Given the description of an element on the screen output the (x, y) to click on. 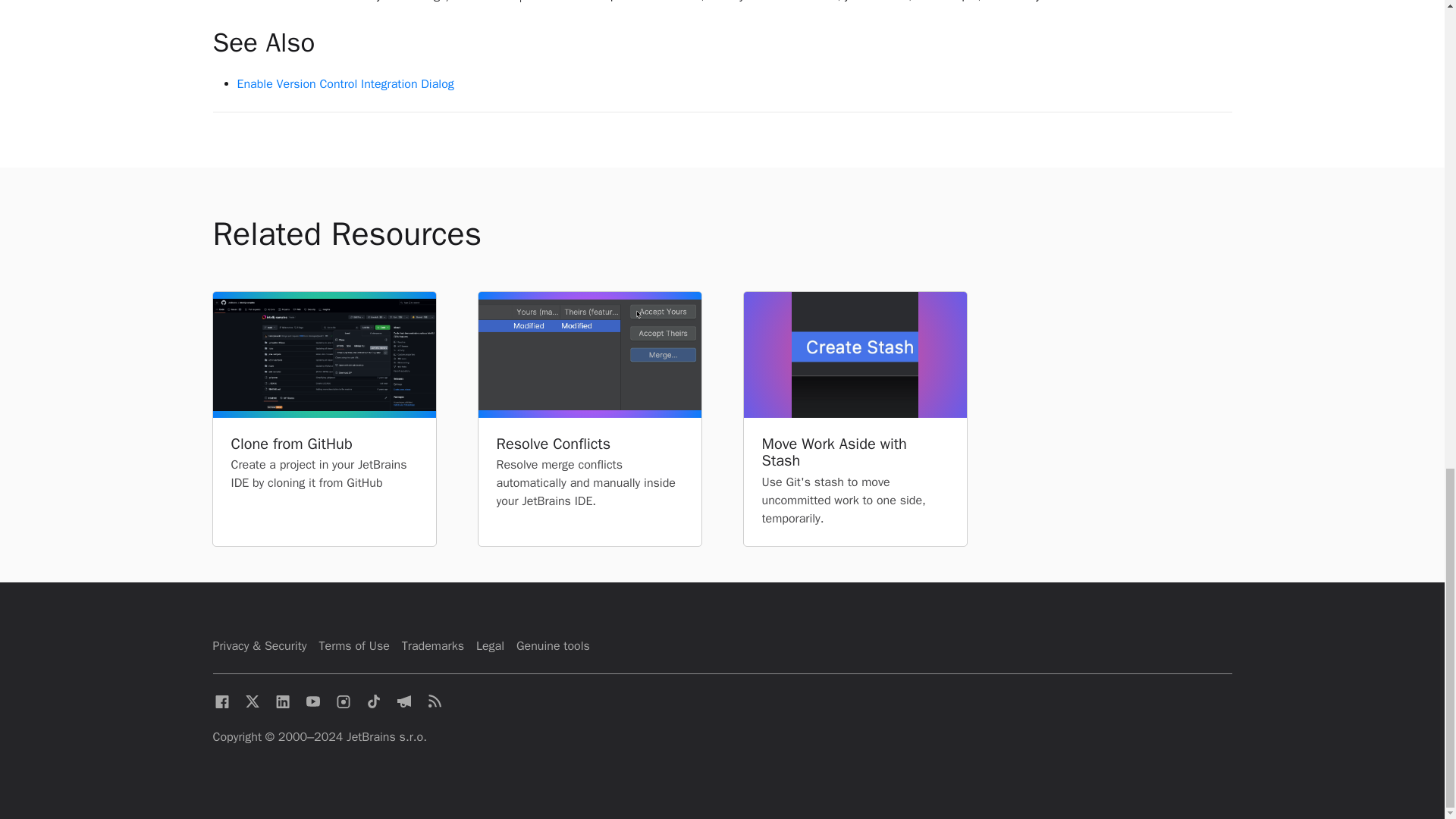
Clone from GitHub (323, 444)
Resolve Conflicts (589, 444)
Move Work Aside with Stash (854, 452)
Enable Version Control Integration Dialog (343, 83)
